Given the description of an element on the screen output the (x, y) to click on. 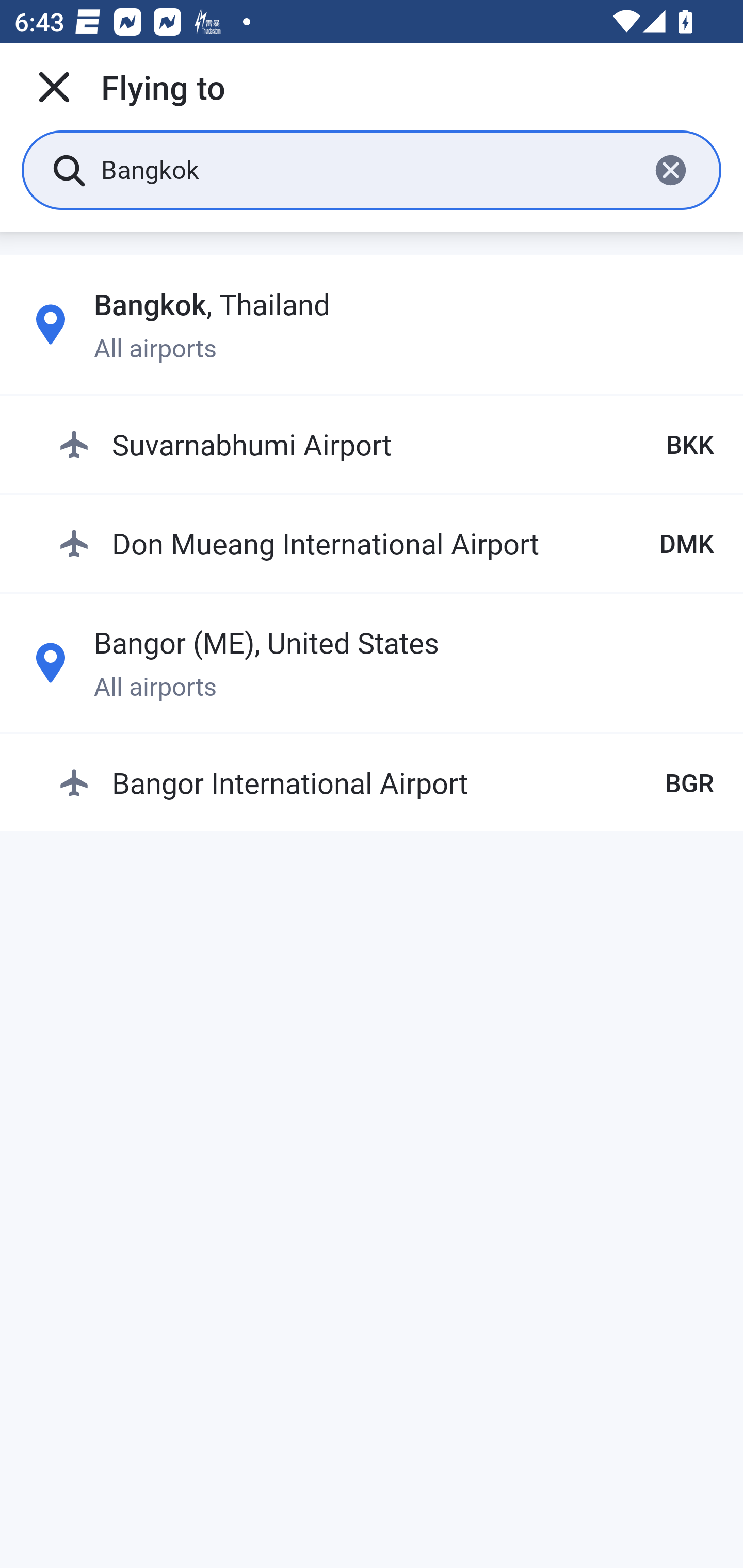
Bangkok (367, 169)
Bangkok, Thailand All airports (371, 324)
Suvarnabhumi Airport BKK (385, 444)
Don Mueang International Airport DMK (385, 543)
Bangor (ME), United States All airports (371, 662)
Bangor International Airport BGR (385, 782)
